Given the description of an element on the screen output the (x, y) to click on. 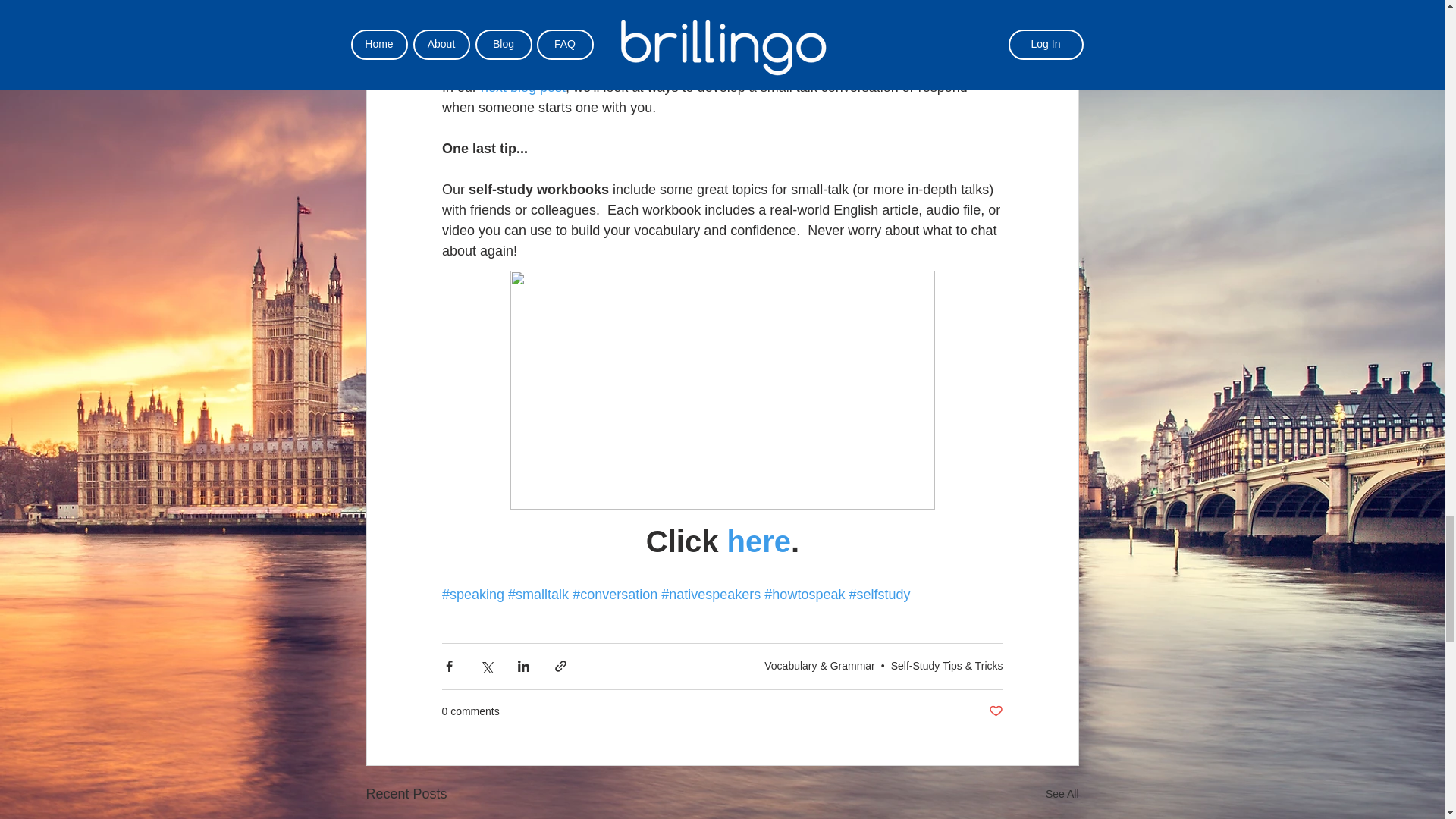
See All (1061, 793)
next blog post (523, 87)
Post not marked as liked (995, 711)
here (758, 540)
